Given the description of an element on the screen output the (x, y) to click on. 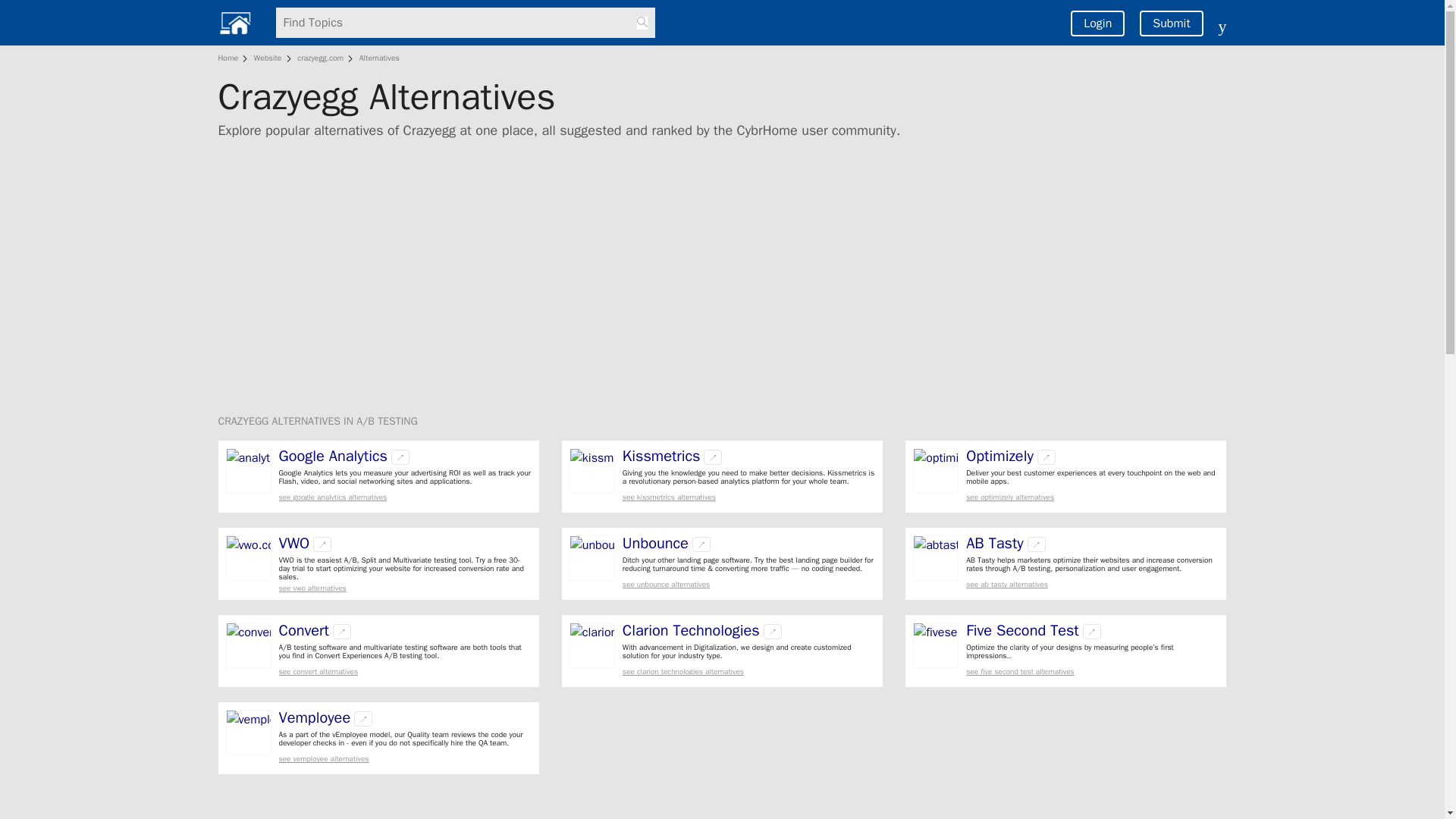
VWO (294, 543)
Optimizely (999, 456)
Home (230, 57)
AB Tasty (994, 543)
Login (1097, 23)
see convert alternatives (405, 671)
see ab tasty alternatives (1092, 583)
see google analytics alternatives (405, 496)
Convert (304, 630)
CRAZYEGG (245, 420)
Unbounce (655, 543)
crazyegg.com (320, 57)
Clarion Technologies (691, 630)
Kissmetrics (661, 456)
